Given the description of an element on the screen output the (x, y) to click on. 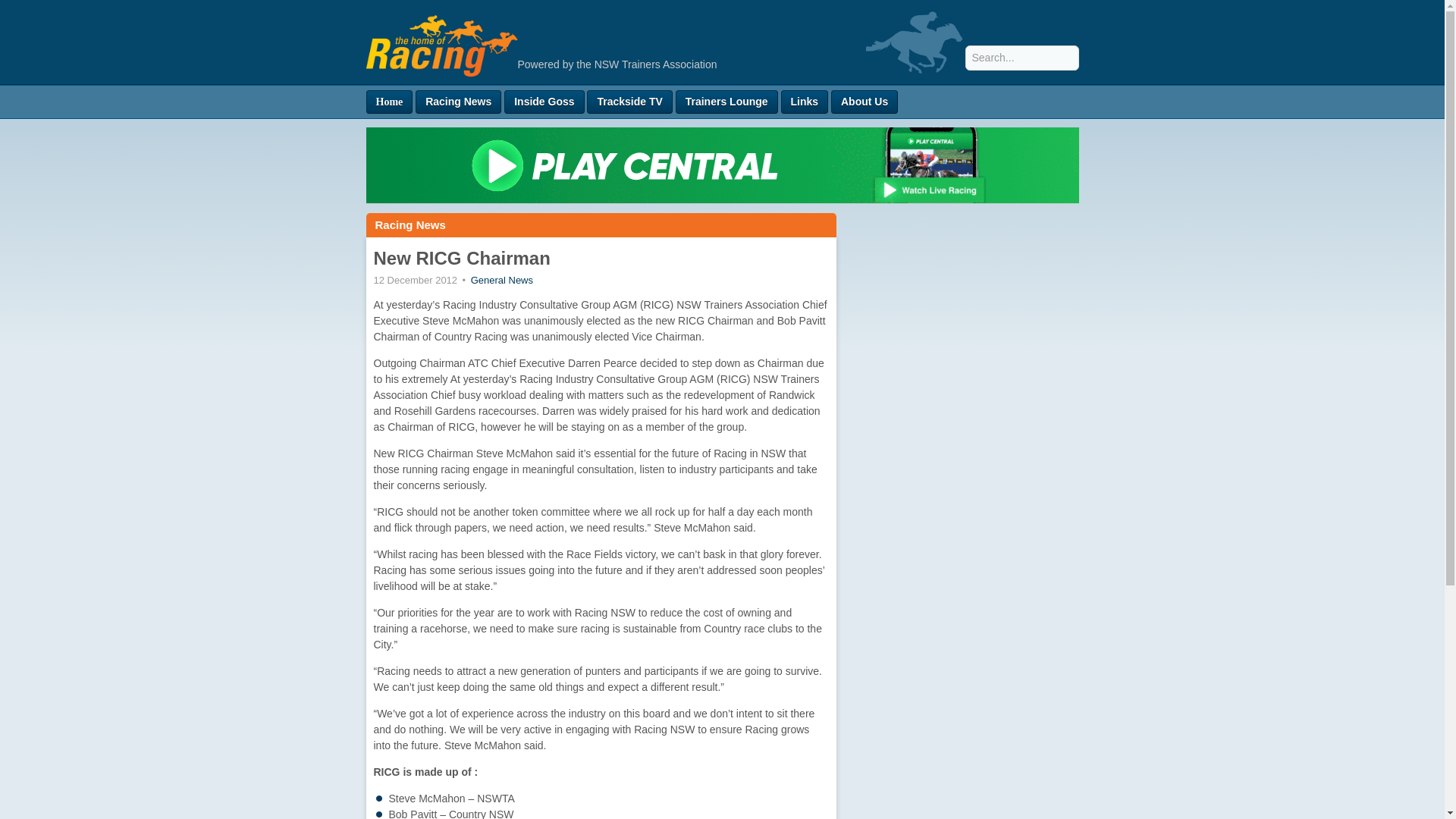
Search... (1020, 57)
Racing News (457, 101)
Trackside TV (628, 101)
General News (501, 279)
Inside Goss (543, 101)
Links (804, 101)
Home (388, 101)
Racing News (409, 224)
Home of Racing (440, 68)
Search... (1020, 57)
